Given the description of an element on the screen output the (x, y) to click on. 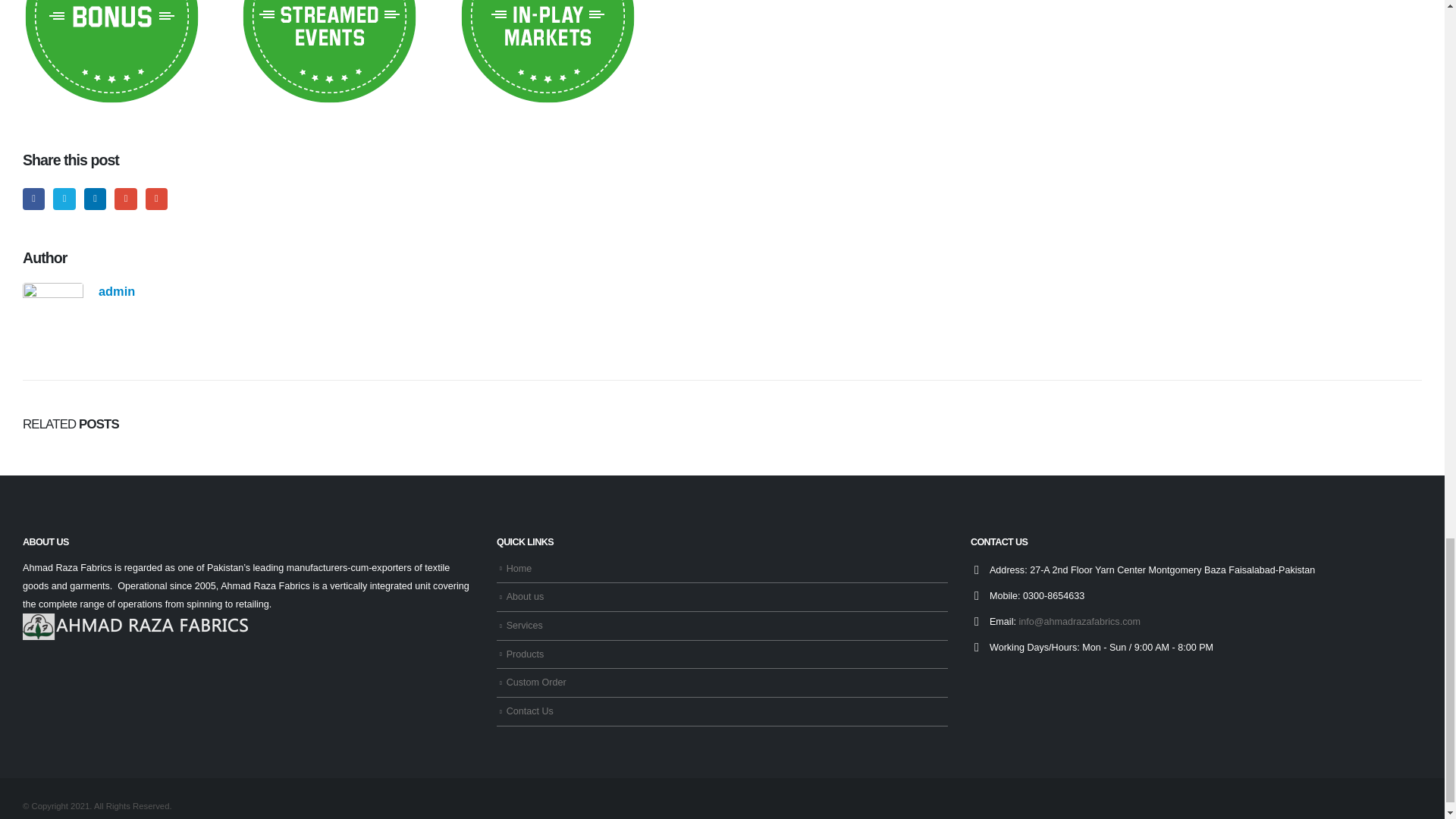
Twitter (63, 198)
Facebook (34, 198)
admin (117, 291)
LinkedIn (95, 198)
Email (156, 198)
Posts by admin (117, 291)
LinkedIn (95, 198)
Facebook (34, 198)
Twitter (63, 198)
Email (156, 198)
